Given the description of an element on the screen output the (x, y) to click on. 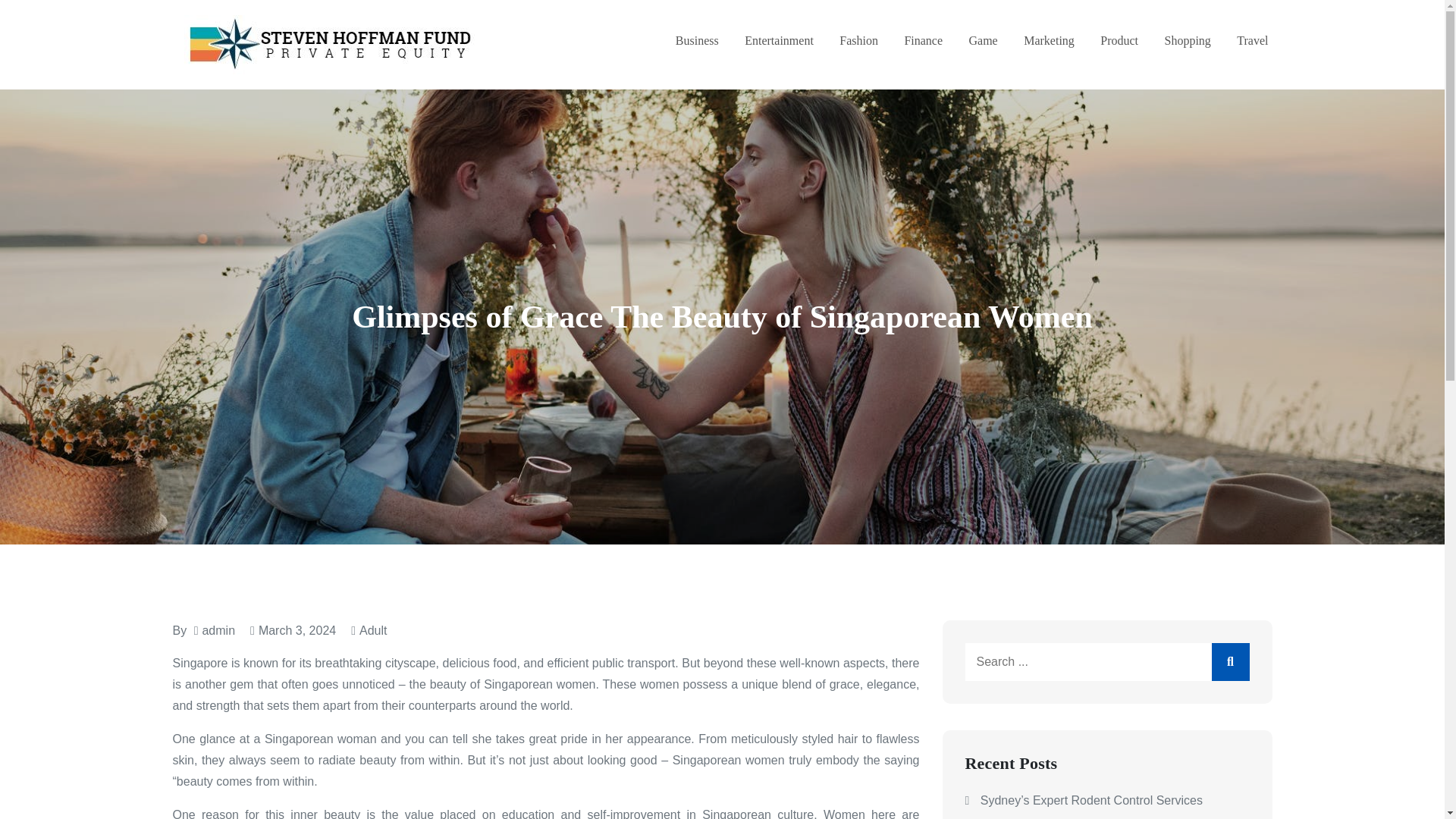
Game (983, 40)
Steven Hoffman Fund (615, 59)
Business (697, 40)
Adult (373, 630)
March 3, 2024 (293, 630)
Marketing (1048, 40)
Finance (923, 40)
Travel (1252, 40)
Fashion (858, 40)
admin (218, 630)
Search for: (1106, 661)
Search (1230, 661)
Entertainment (778, 40)
Product (1119, 40)
Shopping (1187, 40)
